Given the description of an element on the screen output the (x, y) to click on. 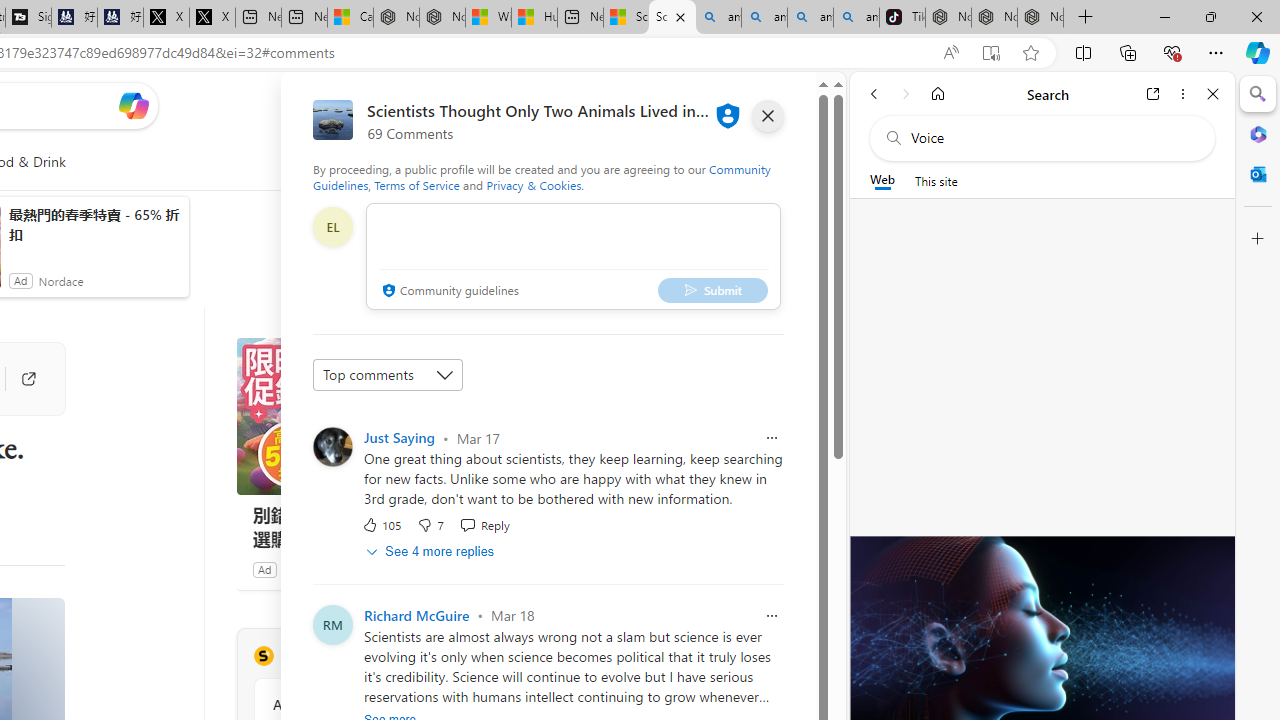
Split screen (1083, 52)
Ad (264, 569)
X (212, 17)
Profile Picture (333, 624)
Privacy & Cookies (534, 184)
See 4 more replies (431, 551)
Back (874, 93)
amazon - Search (764, 17)
Open settings (786, 105)
Sort comments by (388, 374)
Visit ScienceAlert website (511, 655)
Microsoft rewards (707, 105)
Close (1213, 93)
